Given the description of an element on the screen output the (x, y) to click on. 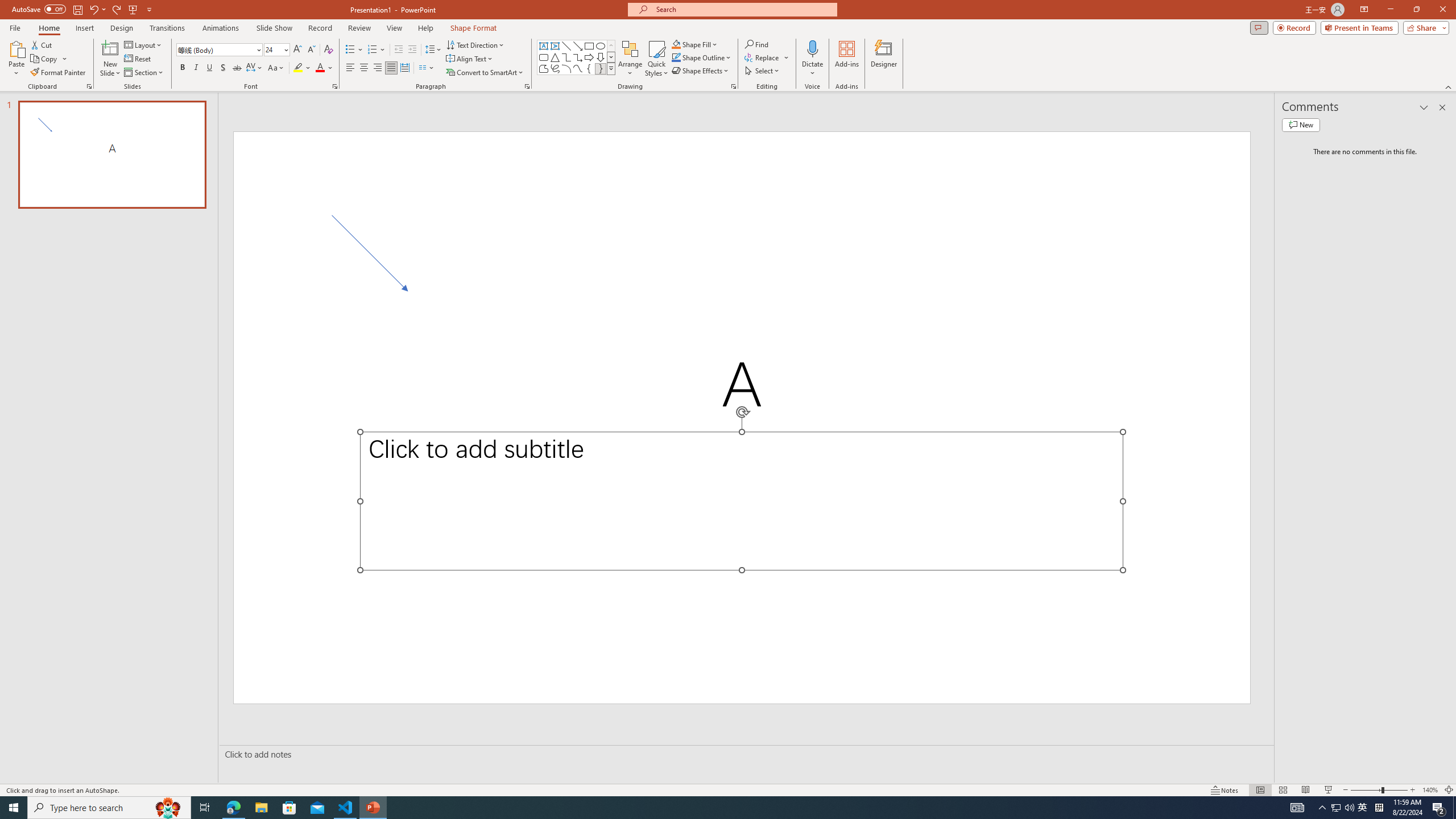
Format Painter (58, 72)
Shape Fill (694, 44)
Font Color (324, 67)
Microsoft search (742, 9)
Designer (883, 58)
Convert to SmartArt (485, 72)
Font Color Red (320, 67)
